Given the description of an element on the screen output the (x, y) to click on. 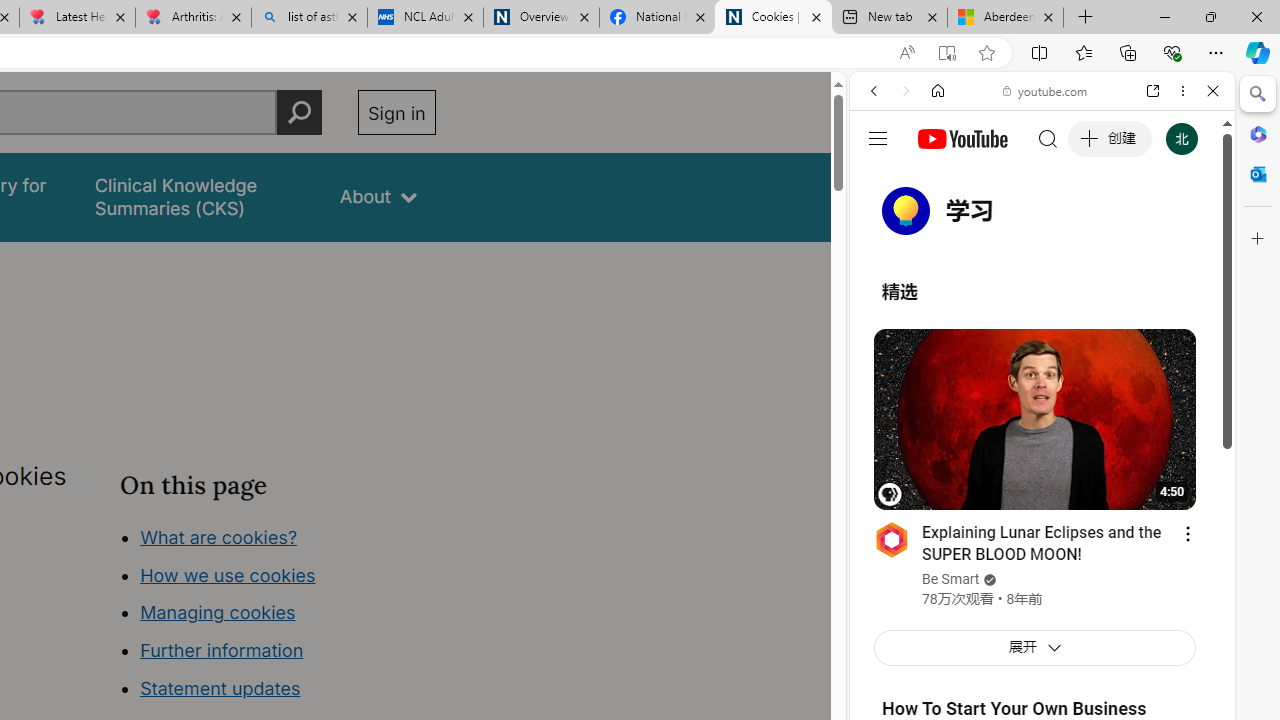
Cookies | About | NICE (772, 17)
Statement updates (219, 688)
Managing cookies (217, 612)
Show More Music (1164, 546)
